Given the description of an element on the screen output the (x, y) to click on. 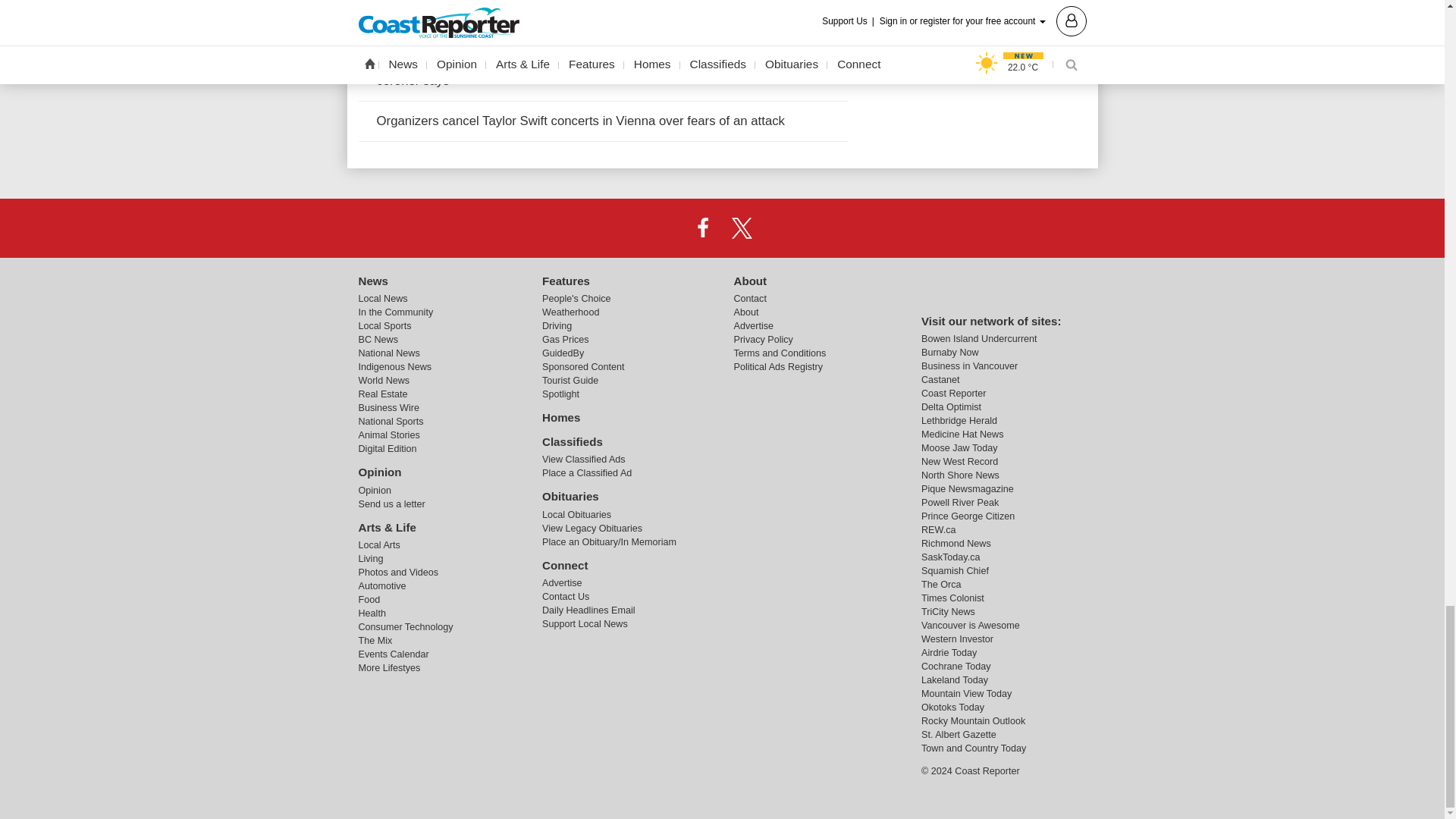
X (741, 226)
Facebook (702, 226)
